Given the description of an element on the screen output the (x, y) to click on. 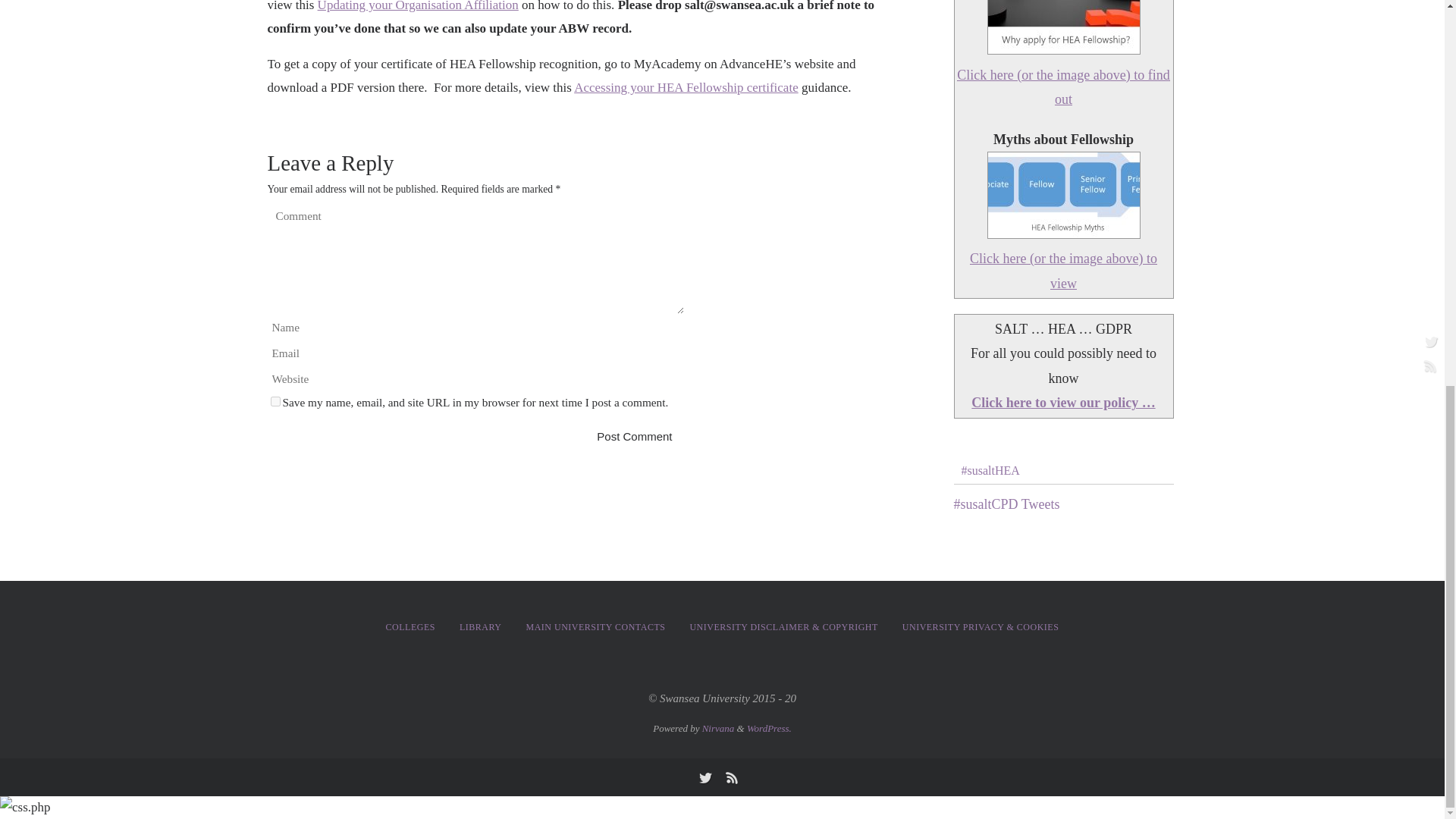
Nirvana Theme by Cryout Creations (718, 727)
RSS (731, 777)
Twitter (704, 777)
yes (274, 401)
Post Comment (634, 436)
Semantic Personal Publishing Platform (769, 727)
